Given the description of an element on the screen output the (x, y) to click on. 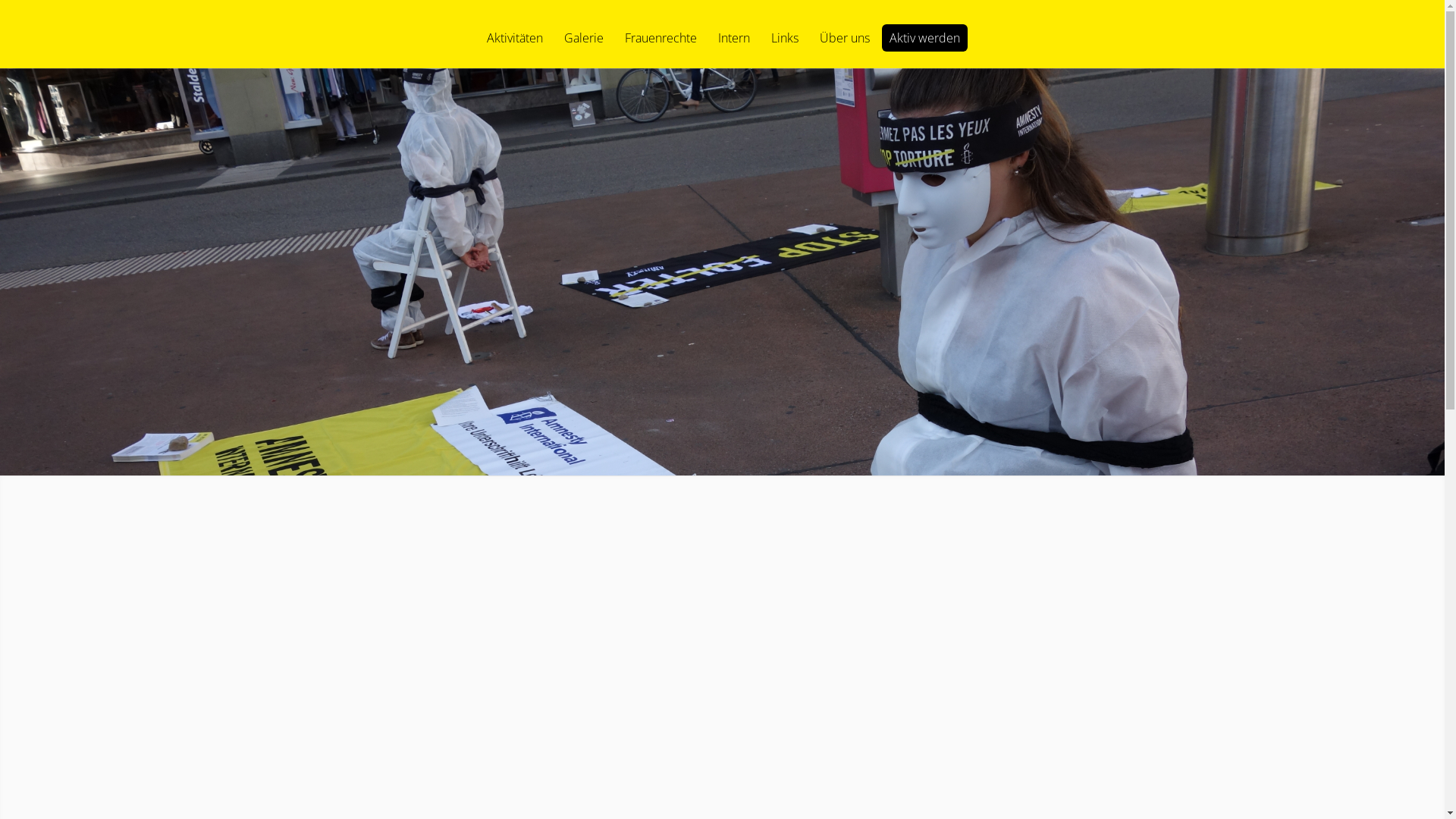
Galerie Element type: text (583, 49)
Links Element type: text (783, 49)
Intern Element type: text (733, 49)
Frauenrechte Element type: text (660, 49)
Aktiv werden Element type: text (923, 37)
